Given the description of an element on the screen output the (x, y) to click on. 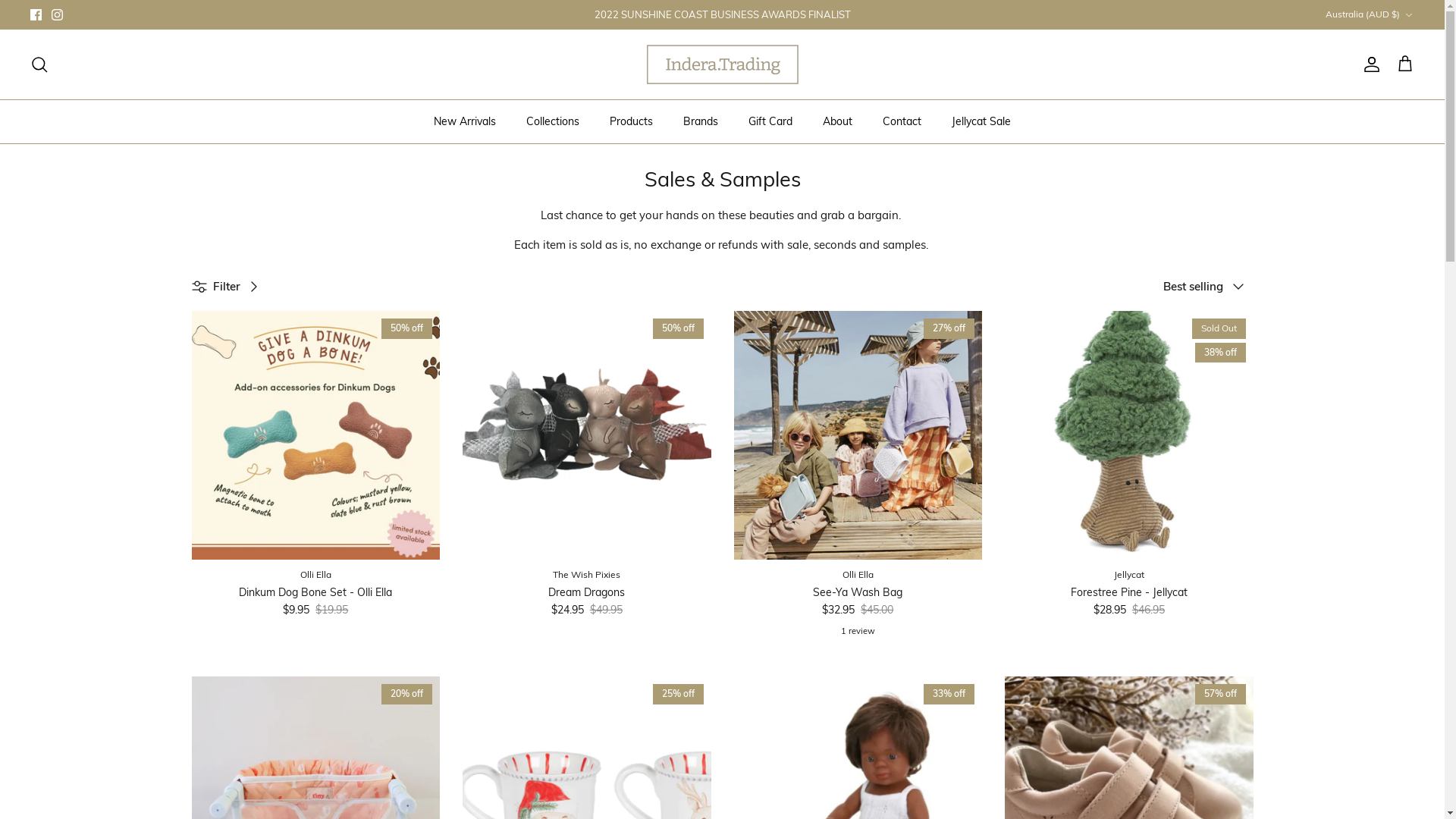
New Arrivals Element type: text (464, 121)
Collections Element type: text (552, 121)
50% off Element type: text (586, 434)
Account Element type: text (1368, 64)
Gift Card Element type: text (770, 121)
Contact Element type: text (902, 121)
Olli Ella
Dinkum Dog Bone Set - Olli Ella
$9.95
$19.95 Element type: text (315, 593)
50% off Element type: text (315, 434)
Australia (AUD $)
Down Element type: text (1369, 14)
Brands Element type: text (700, 121)
Products Element type: text (631, 121)
Sold Out
38% off Element type: text (1128, 434)
Search Element type: text (39, 64)
Indera.Trading Element type: hover (721, 64)
Olli Ella
See-Ya Wash Bag
$32.95
$45.00 Element type: text (858, 593)
Filter Element type: text (229, 286)
Facebook Element type: text (35, 14)
Instagram Element type: text (56, 14)
27% off Element type: text (858, 434)
About Element type: text (837, 121)
Jellycat Sale Element type: text (981, 121)
Jellycat
Forestree Pine - Jellycat
$28.95
$46.95 Element type: text (1128, 593)
Cart Element type: text (1405, 64)
The Wish Pixies
Dream Dragons
$24.95
$49.95 Element type: text (586, 593)
Best selling Element type: text (1208, 286)
